Given the description of an element on the screen output the (x, y) to click on. 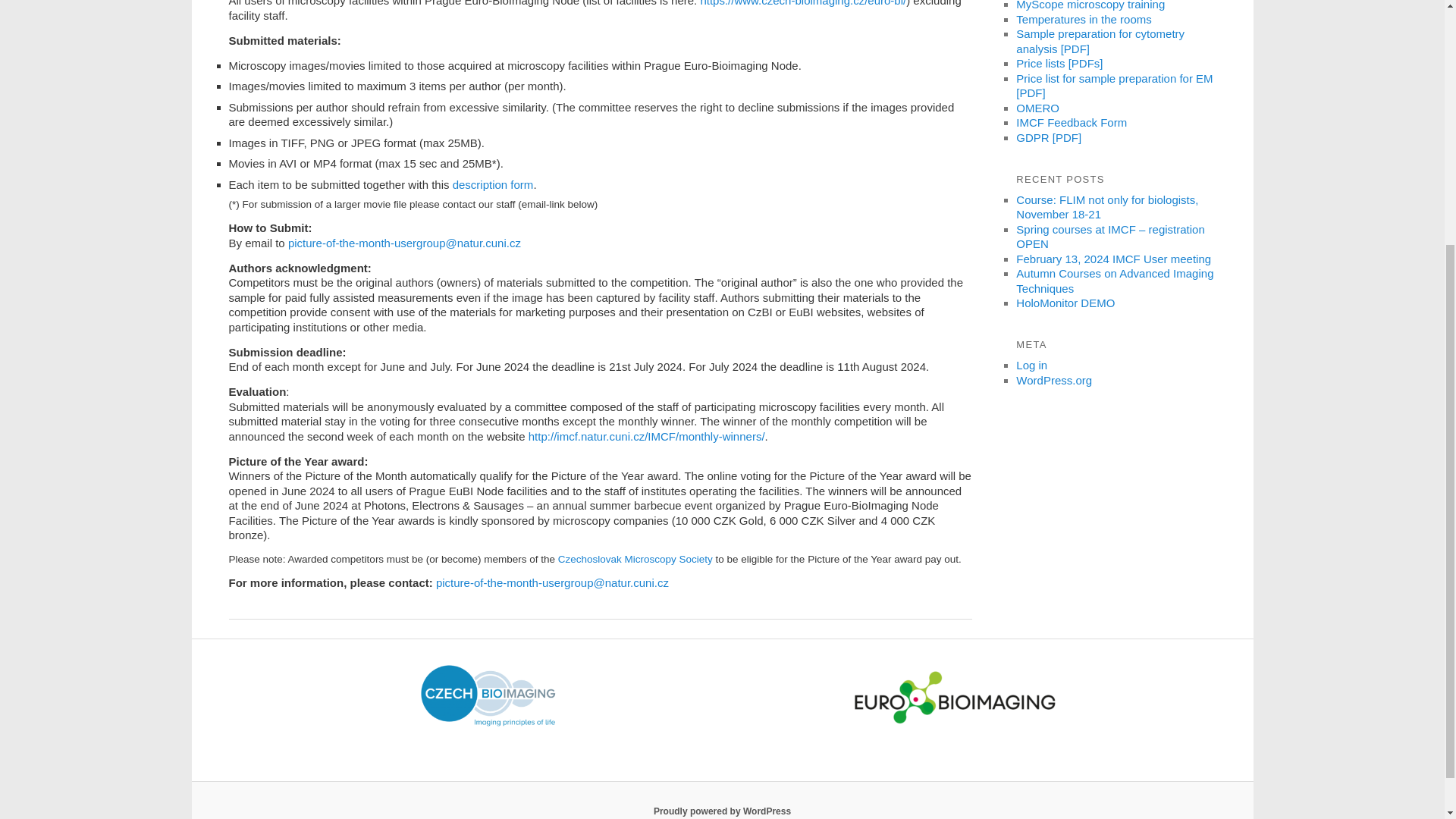
Semantic Personal Publishing Platform (721, 810)
description form (493, 184)
Czechoslovak Microscopy Society (635, 559)
